Given the description of an element on the screen output the (x, y) to click on. 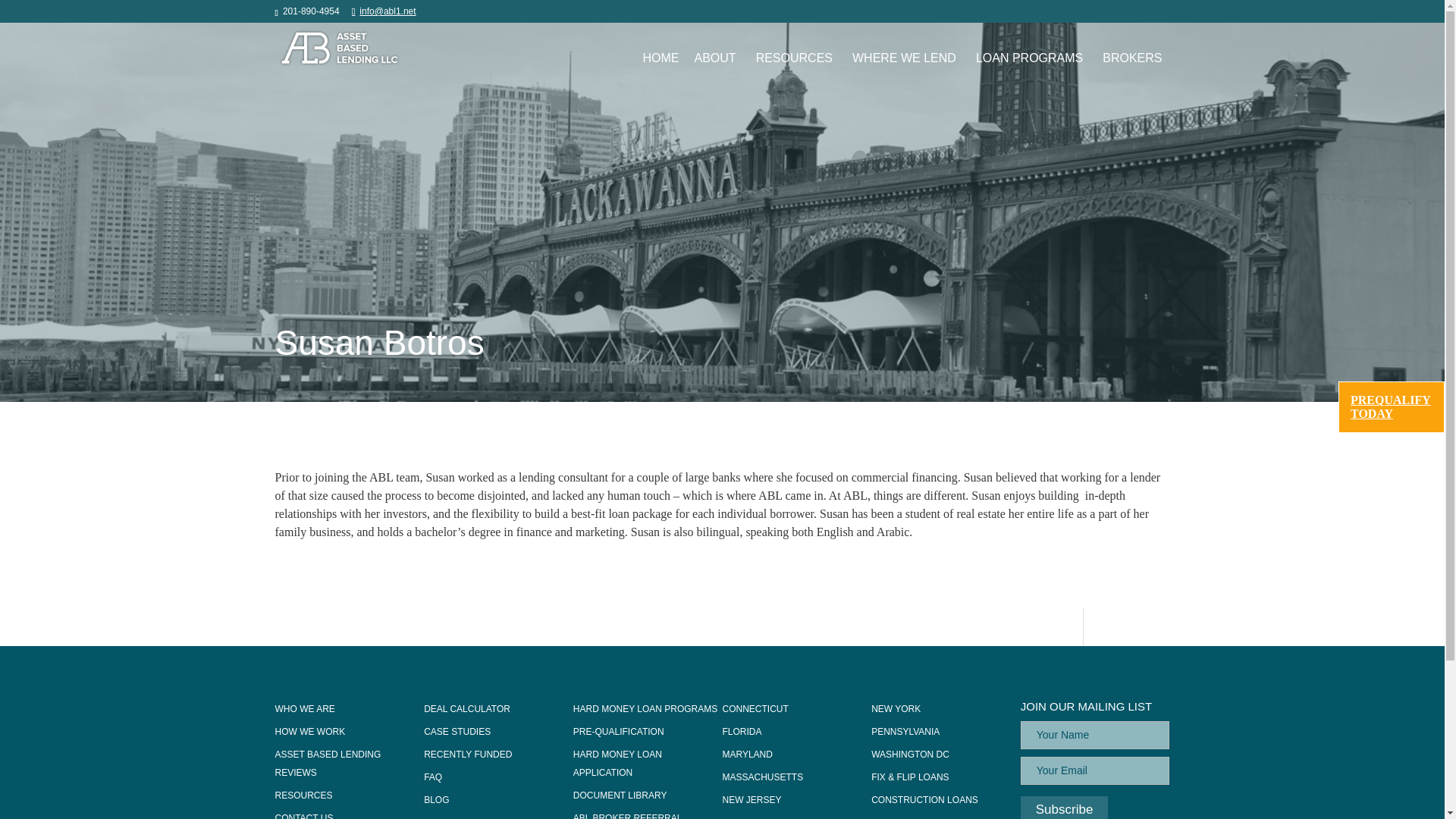
WHERE WE LEND (906, 58)
ABOUT (717, 58)
HOME (660, 58)
RESOURCES (796, 58)
